Given the description of an element on the screen output the (x, y) to click on. 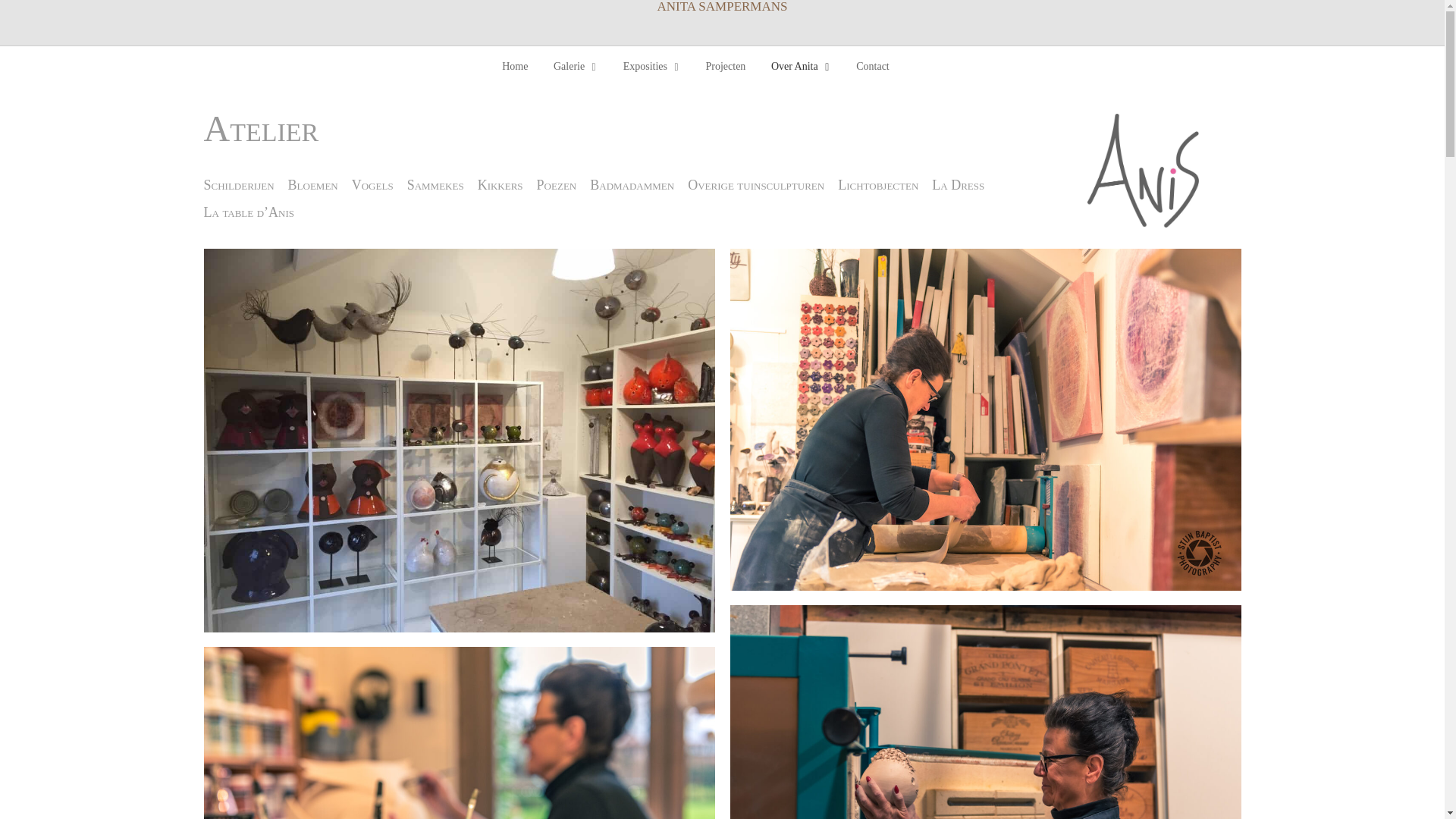
Exposities Element type: text (651, 66)
Sammekes Element type: text (435, 184)
Poezen Element type: text (556, 184)
Lichtobjecten Element type: text (877, 184)
Galerie Element type: text (575, 66)
Projecten Element type: text (725, 66)
Kikkers Element type: text (500, 184)
Vogels Element type: text (372, 184)
ANITA SAMPERMANS Element type: text (721, 6)
La Dress Element type: text (957, 184)
Schilderijen Element type: text (238, 184)
Over Anita Element type: text (800, 66)
anis Element type: hover (1142, 170)
Bloemen Element type: text (313, 184)
Badmadammen Element type: text (631, 184)
Contact Element type: text (866, 66)
Overige tuinsculpturen Element type: text (755, 184)
Home Element type: text (520, 66)
